Given the description of an element on the screen output the (x, y) to click on. 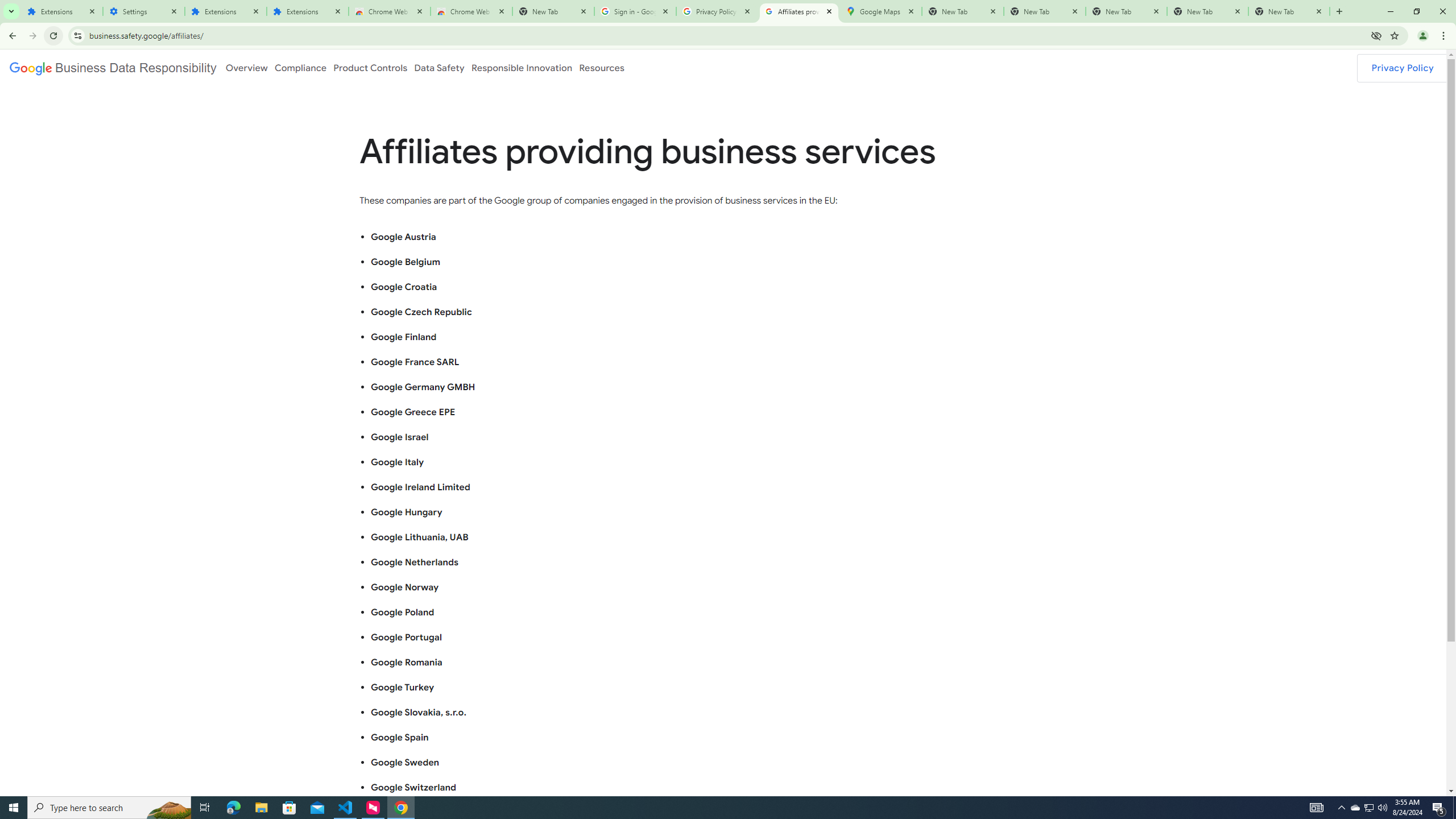
Extensions (225, 11)
Google logo (112, 67)
New Tab (552, 11)
Sign in - Google Accounts (635, 11)
Product Controls (370, 67)
Compliance (300, 67)
